Given the description of an element on the screen output the (x, y) to click on. 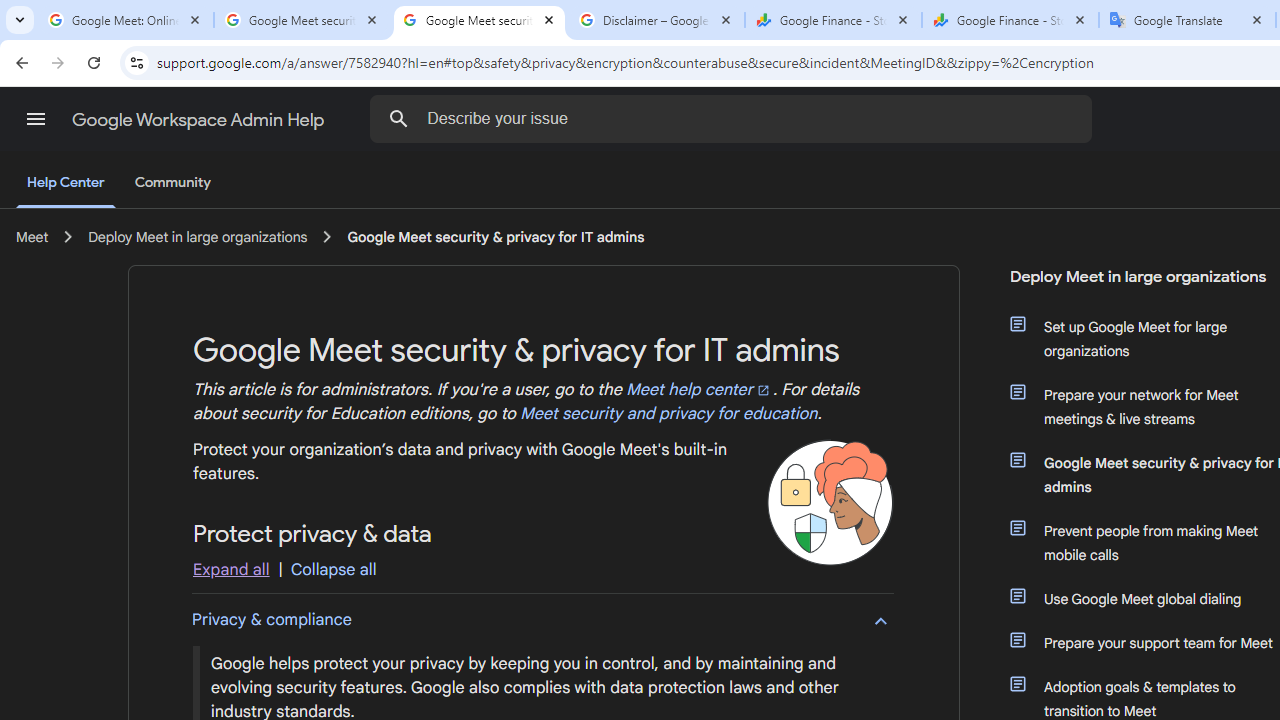
Search Help Center (399, 118)
Privacy & compliance (542, 619)
Meet security and privacy for education (668, 413)
Deploy Meet in large organizations (198, 237)
Meet  (31, 237)
